Given the description of an element on the screen output the (x, y) to click on. 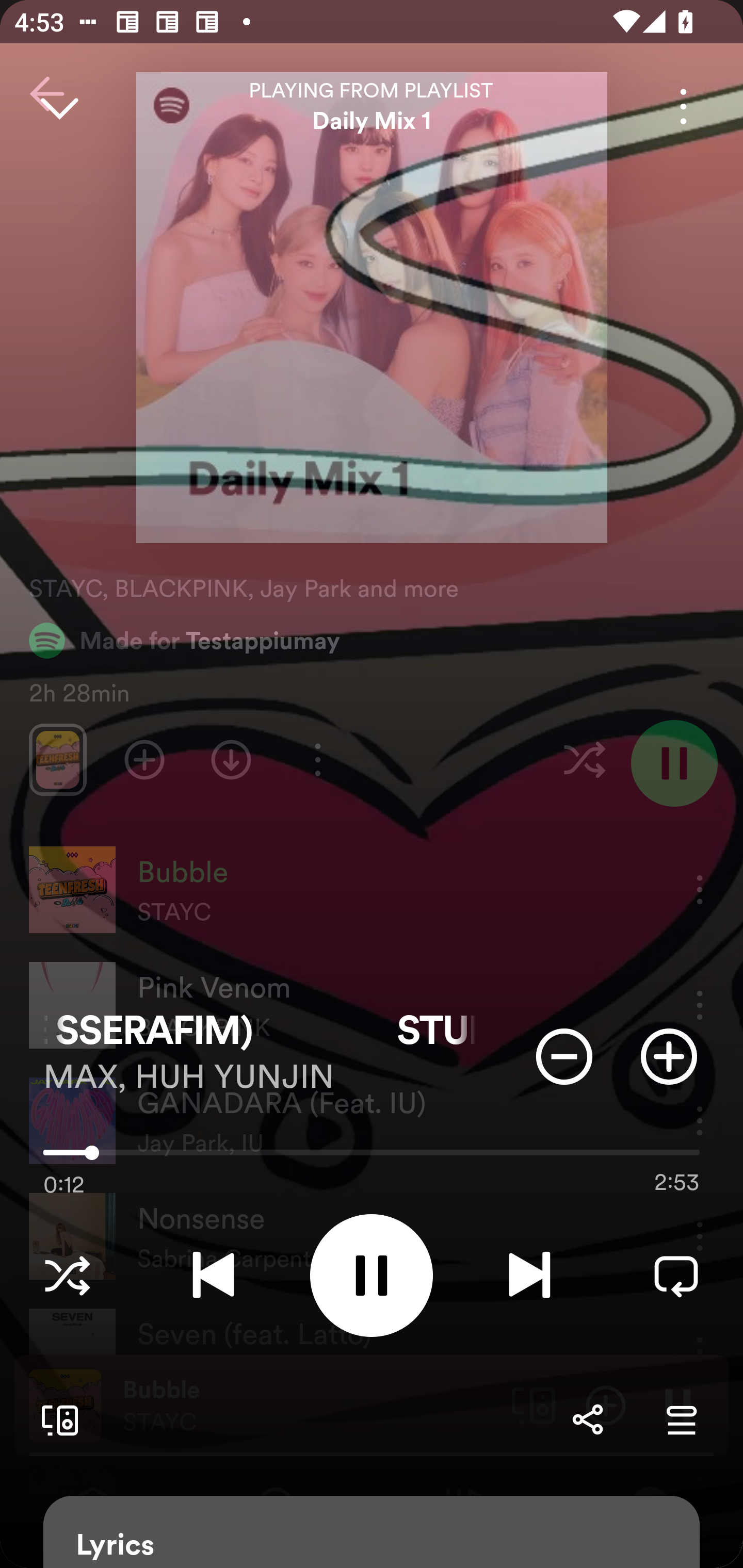
Close (59, 106)
PLAYING FROM PLAYLIST Daily Mix 1 (371, 106)
Don't play this (564, 1056)
Add item (669, 1056)
0:12 2:53 12526.0 Use volume keys to adjust (371, 1157)
Pause (371, 1275)
Previous (212, 1275)
Next (529, 1275)
Shuffle tracks (66, 1275)
Repeat (676, 1275)
Share (587, 1419)
Go to Queue (681, 1419)
Connect to a device. Opens the devices menu (55, 1419)
Lyrics (371, 1531)
